Given the description of an element on the screen output the (x, y) to click on. 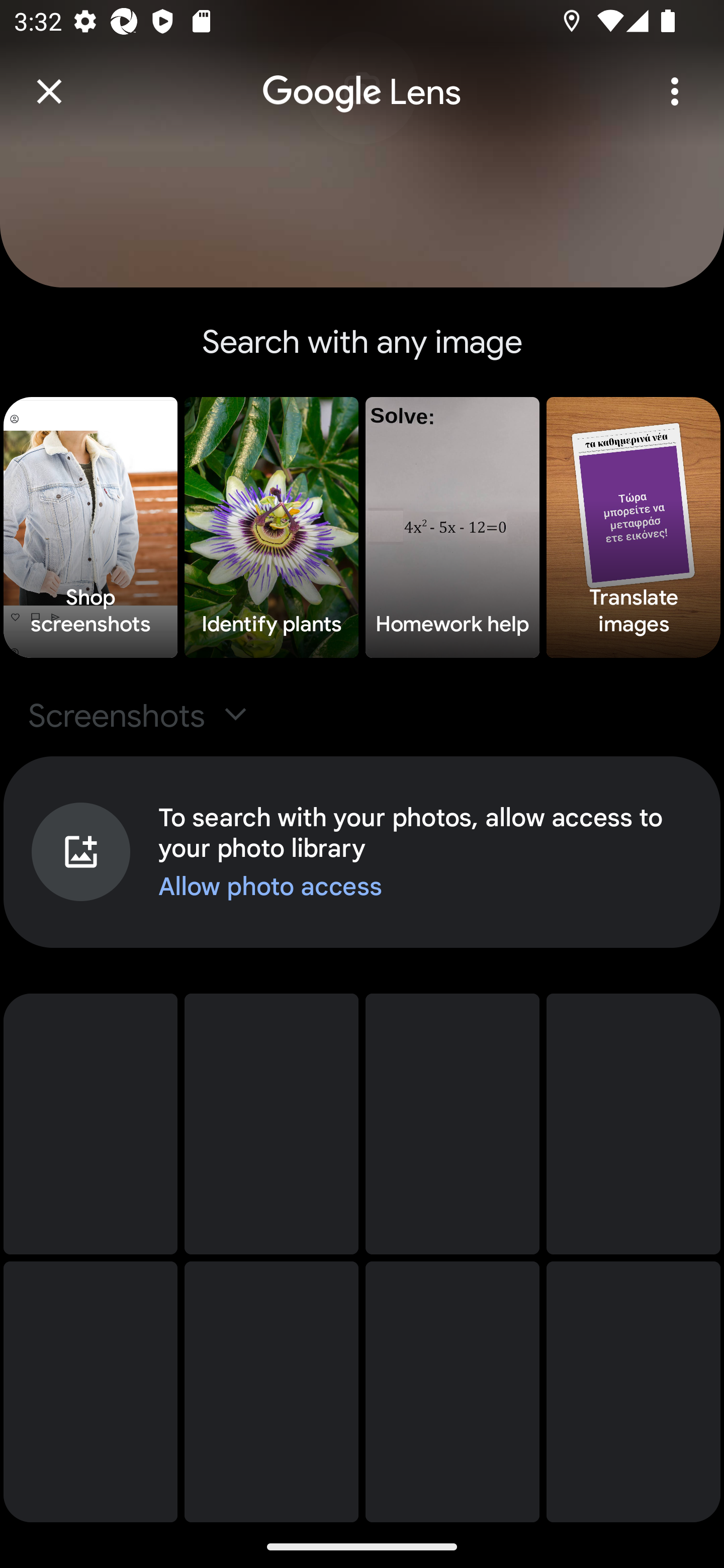
Google Lens Lens (361, 78)
Close (48, 91)
More options (674, 91)
Shop screenshots (90, 527)
Identify plants (271, 527)
Homework help (452, 527)
Translate images (633, 527)
